Given the description of an element on the screen output the (x, y) to click on. 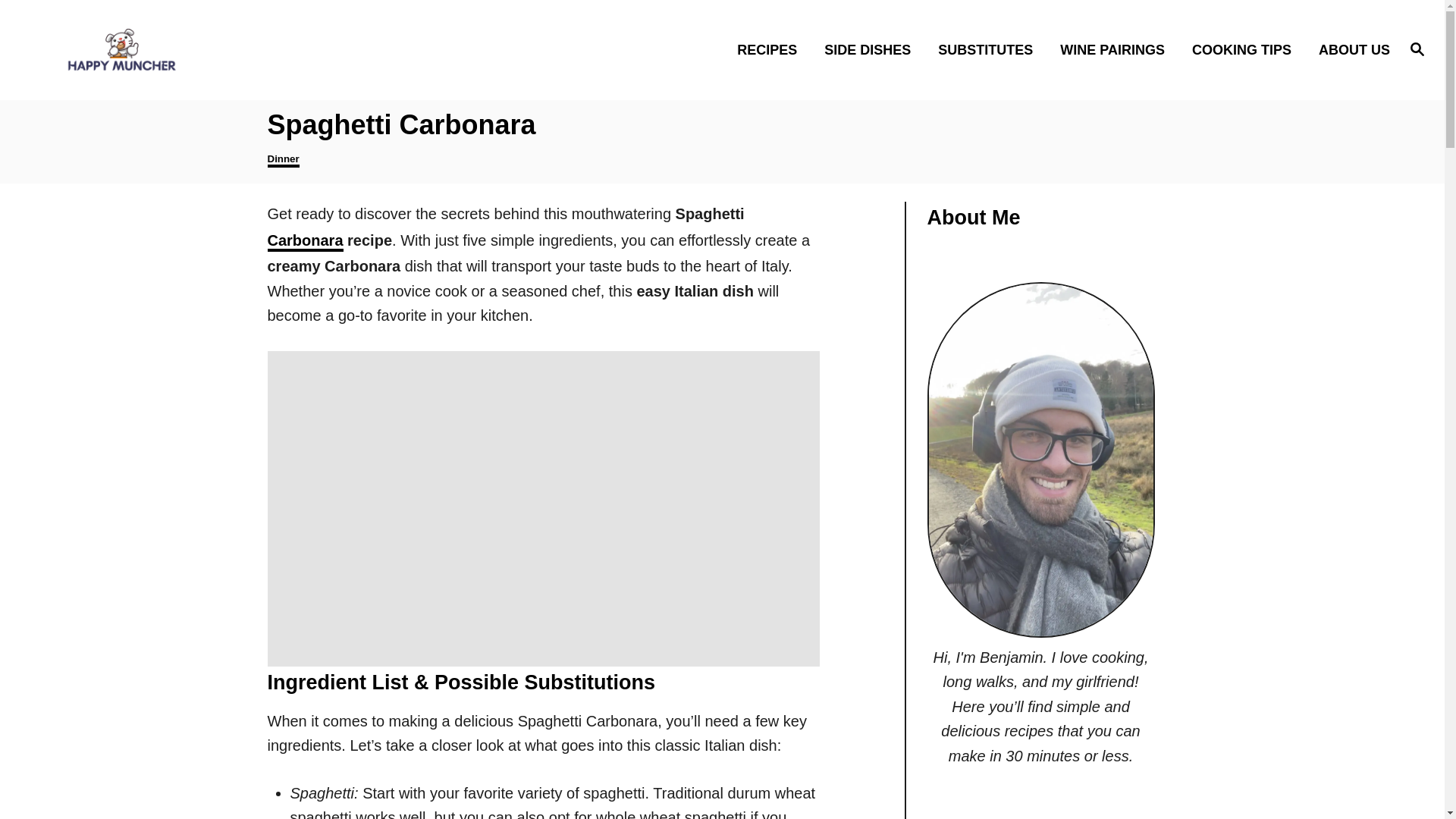
RECIPES (771, 49)
Dinner (282, 160)
Carbonara (304, 241)
WINE PAIRINGS (1116, 49)
COOKING TIPS (1245, 49)
SIDE DISHES (871, 49)
Happy Muncher (204, 49)
SUBSTITUTES (989, 49)
Magnifying Glass (1416, 48)
Carbonara (304, 241)
